Given the description of an element on the screen output the (x, y) to click on. 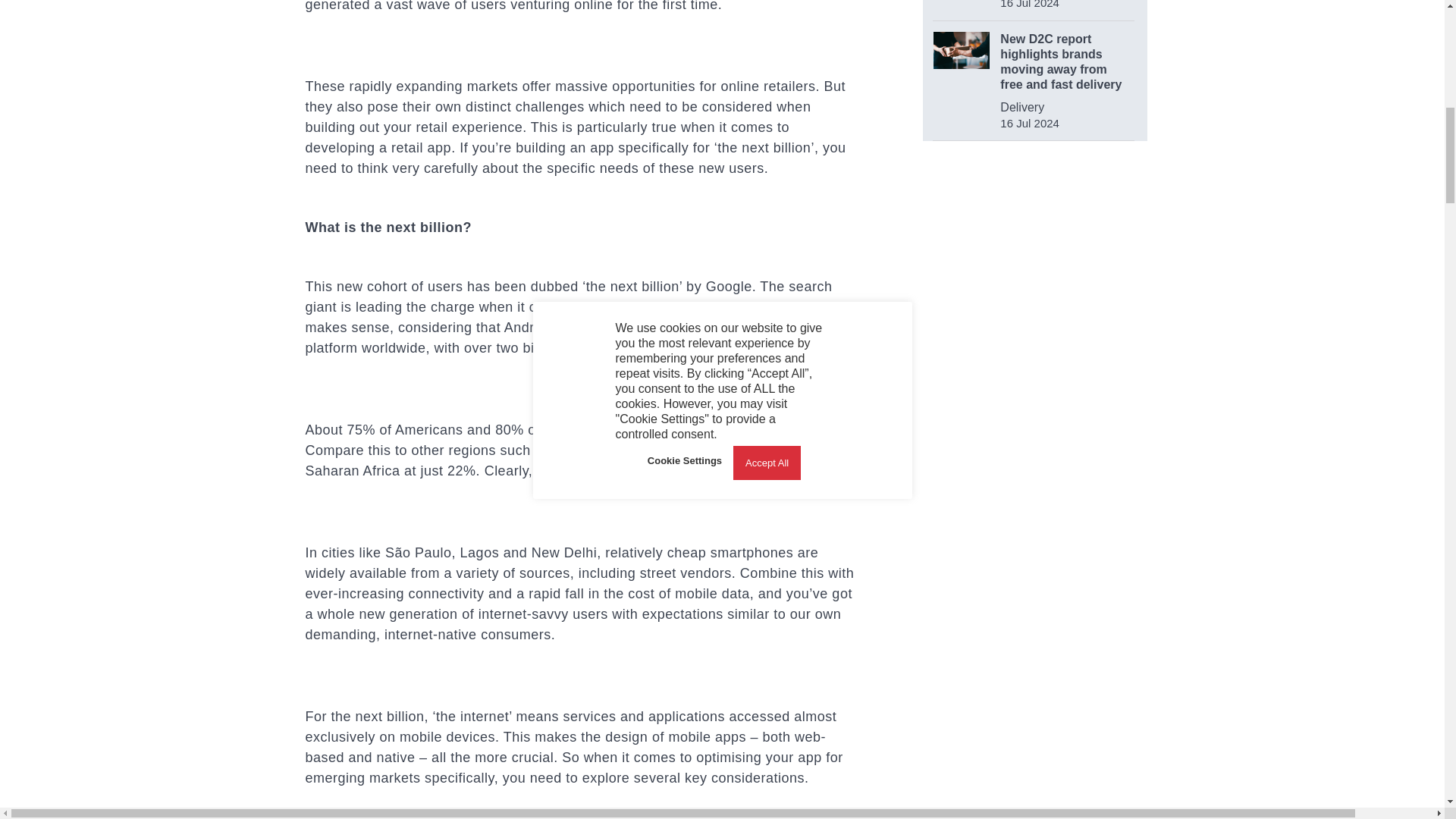
3rd party ad content (1035, 470)
3rd party ad content (1034, 257)
